Given the description of an element on the screen output the (x, y) to click on. 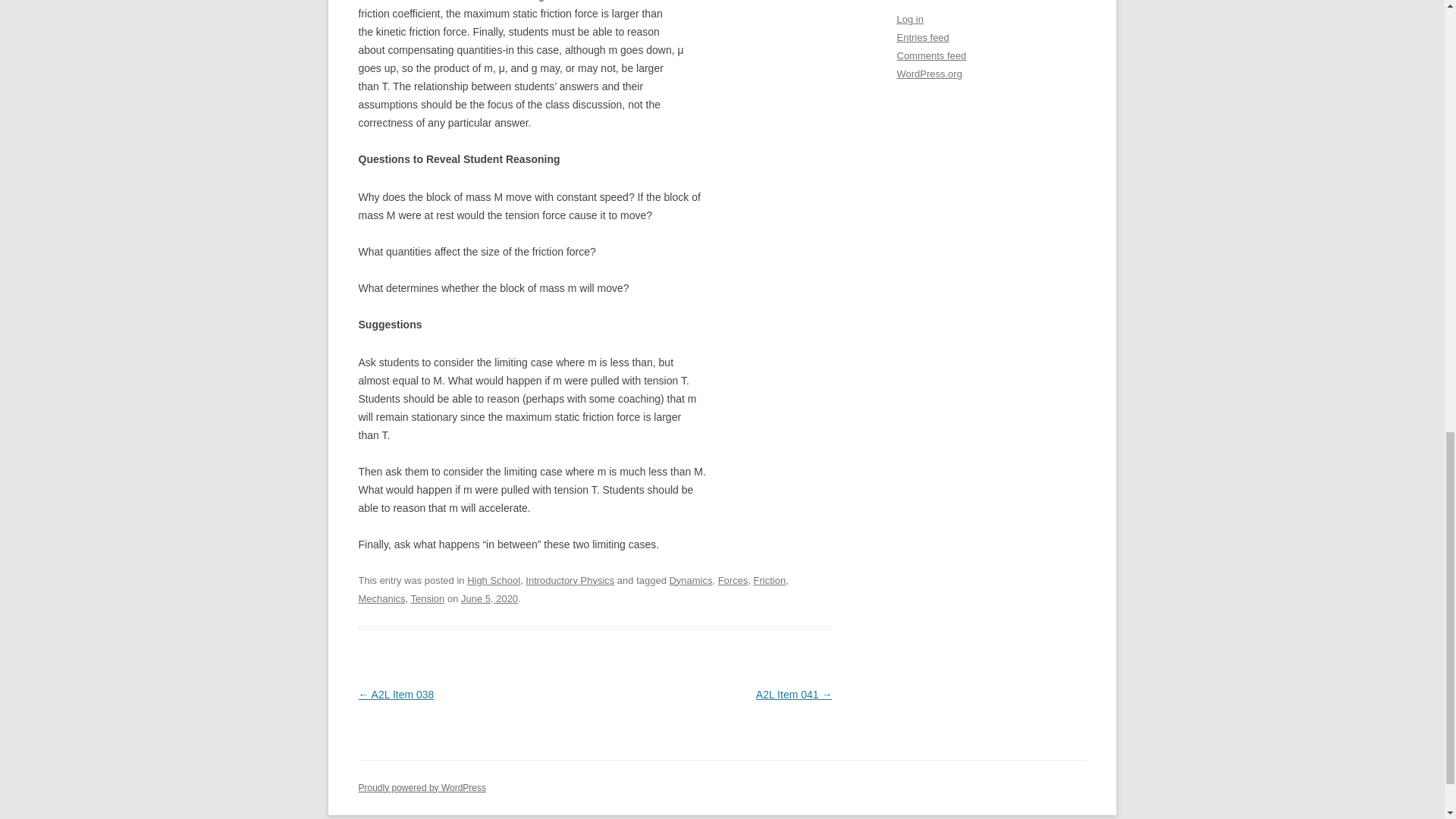
Mechanics (381, 598)
3:05 PM (489, 598)
Tension (427, 598)
Friction (770, 580)
June 5, 2020 (489, 598)
High School (493, 580)
Forces (732, 580)
Dynamics (689, 580)
Introductory Physics (569, 580)
Semantic Personal Publishing Platform (422, 787)
